Given the description of an element on the screen output the (x, y) to click on. 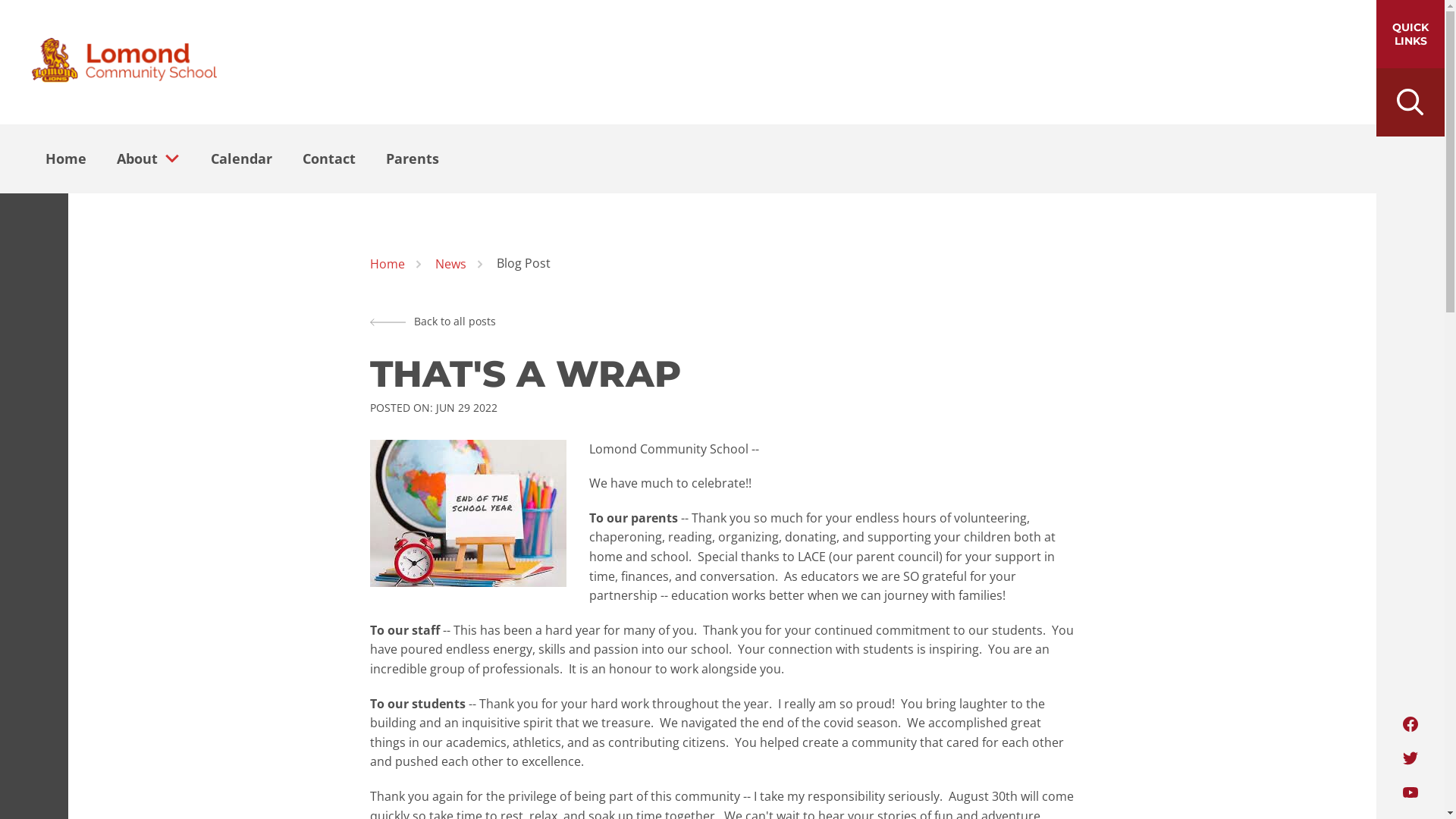
YouTube Element type: text (1410, 792)
Parents Element type: text (412, 158)
Back to all posts Element type: text (432, 321)
Home Element type: text (387, 264)
QUICK LINKS Element type: text (1410, 34)
Home Element type: text (65, 158)
home Element type: hover (123, 62)
Twitter Element type: text (1410, 757)
About Element type: text (132, 158)
Calendar Element type: text (241, 158)
News Element type: text (450, 264)
Contact Element type: text (328, 158)
Facebook Element type: text (1410, 723)
